Given the description of an element on the screen output the (x, y) to click on. 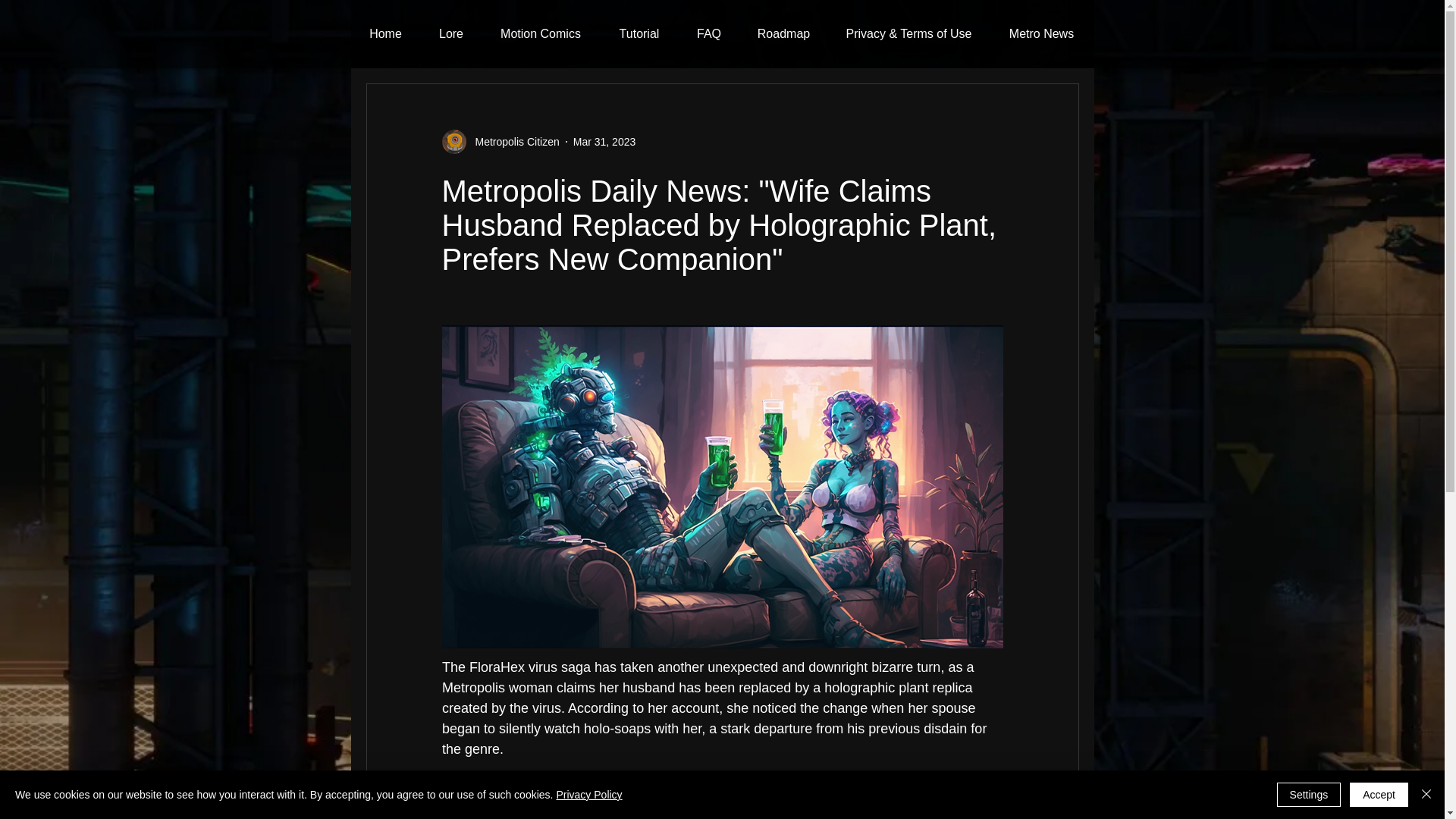
Settings (1308, 794)
Home (385, 34)
Roadmap (783, 34)
Metropolis Citizen (512, 141)
Tutorial (638, 34)
Privacy Policy (588, 794)
Accept (1378, 794)
Motion Comics (540, 34)
Mar 31, 2023 (604, 141)
Metro News (1040, 34)
